Given the description of an element on the screen output the (x, y) to click on. 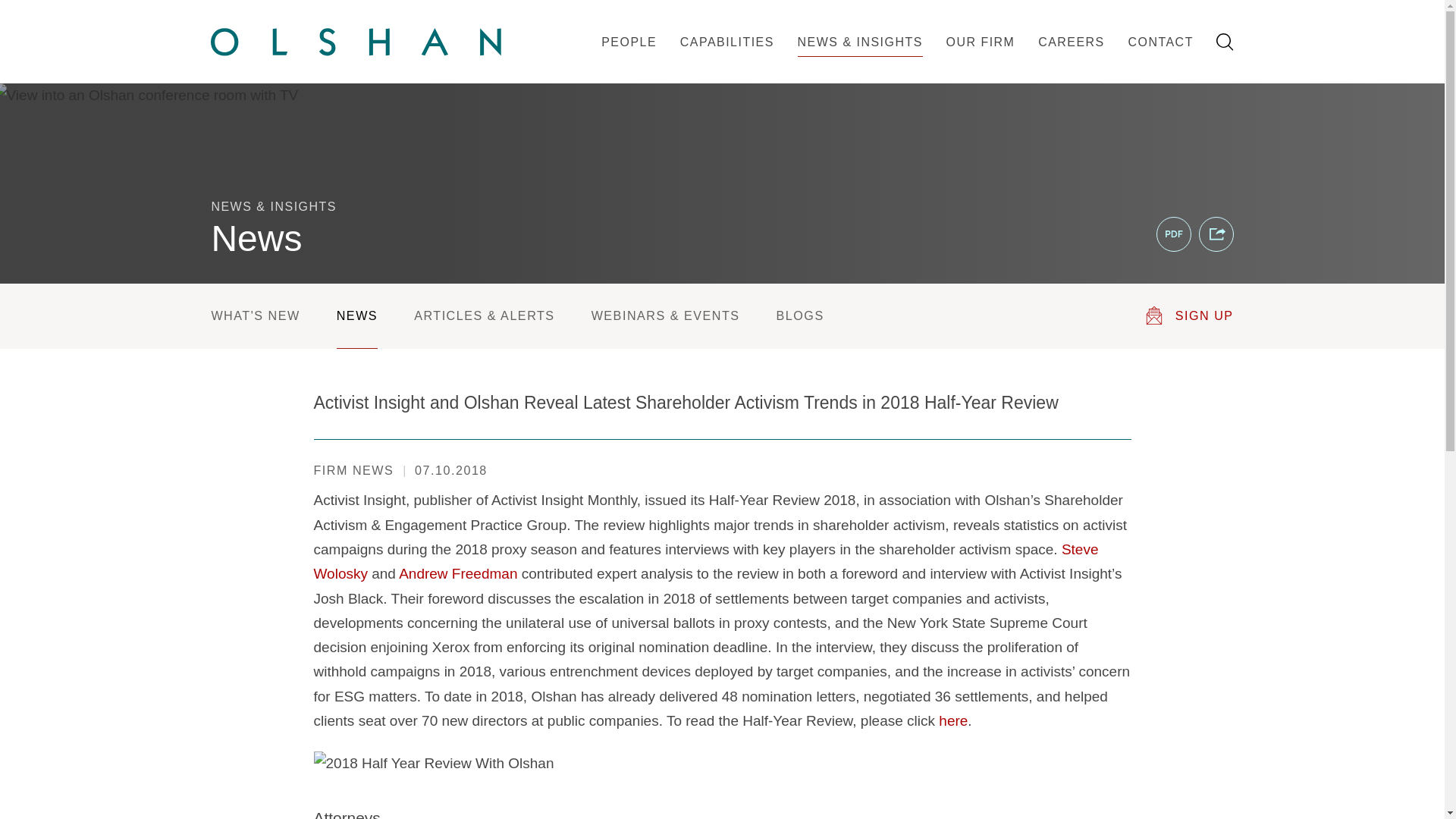
CAREERS (1071, 57)
Main Content (667, 20)
Search (1224, 41)
here (953, 720)
Main Menu (674, 20)
OUR FIRM (980, 57)
CAPABILITIES (727, 57)
Print PDF (1173, 234)
PEOPLE (628, 57)
Share (1215, 234)
Menu (674, 20)
